Given the description of an element on the screen output the (x, y) to click on. 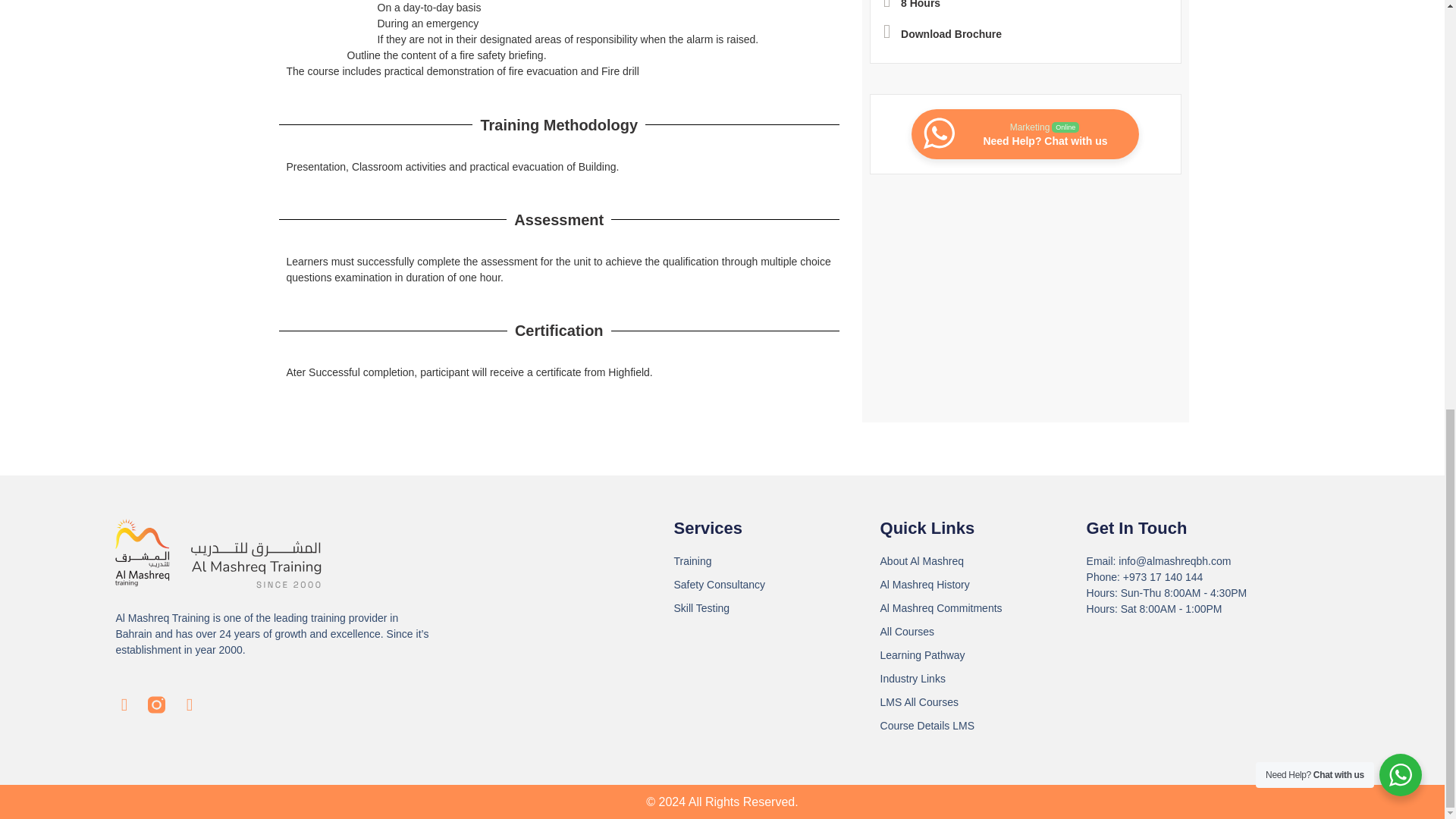
Download Brochure (942, 33)
